Given the description of an element on the screen output the (x, y) to click on. 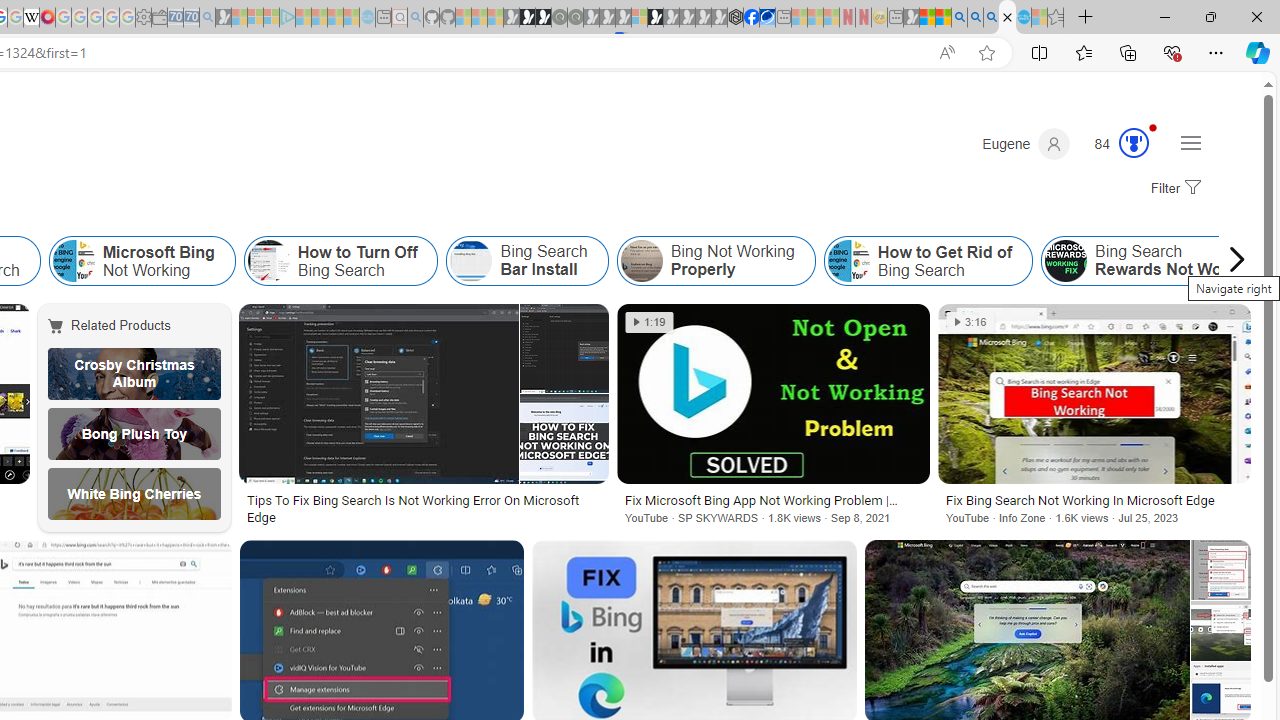
Microsoft Rewards 84 (1115, 143)
2009 Bing officially replaced Live Search on June 3 - Search (975, 17)
